Given the description of an element on the screen output the (x, y) to click on. 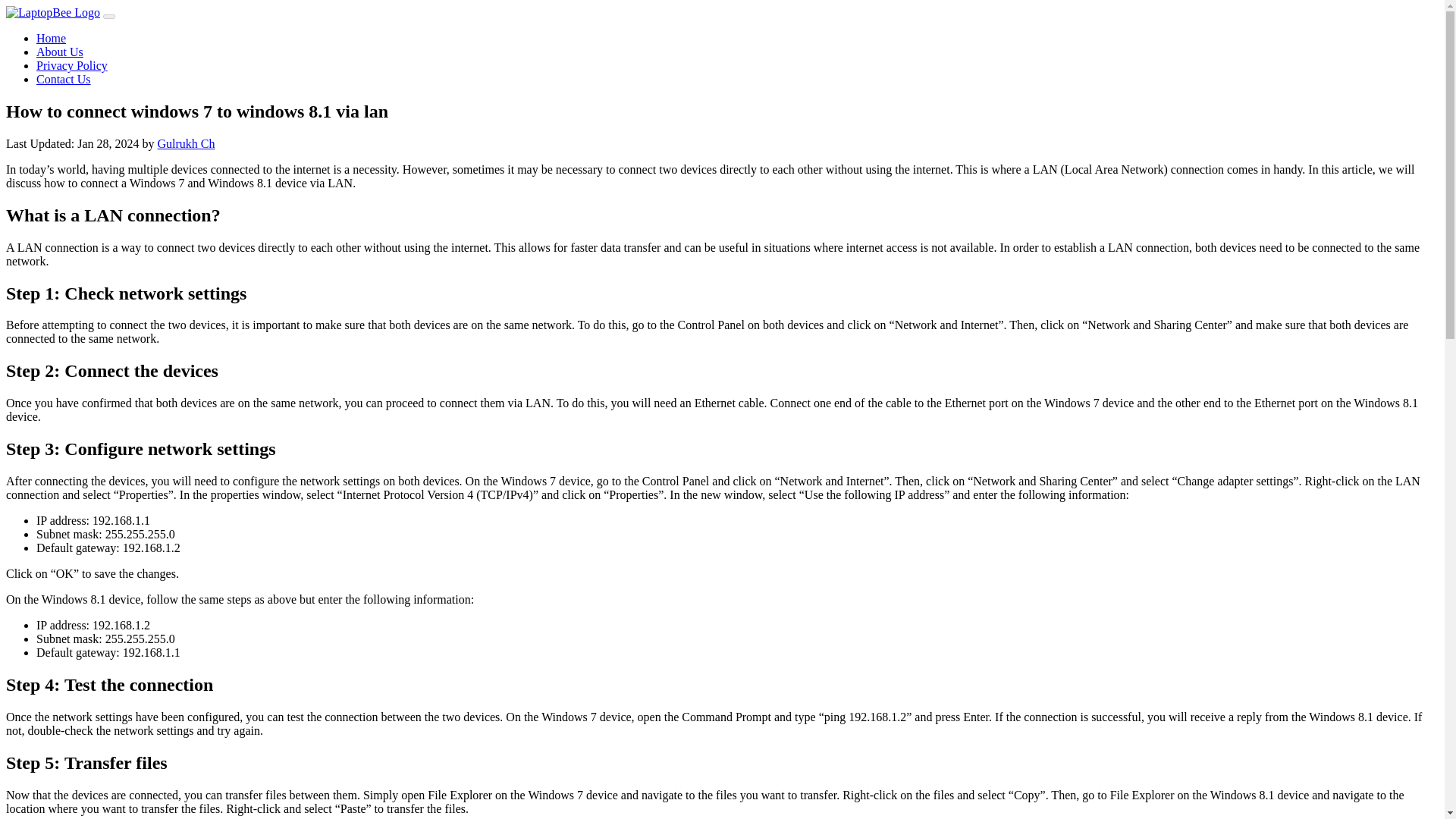
Posts by Gulrukh Ch (186, 143)
Contact Us (63, 78)
Home (50, 38)
About Us (59, 51)
Gulrukh Ch (186, 143)
Privacy Policy (71, 65)
